Given the description of an element on the screen output the (x, y) to click on. 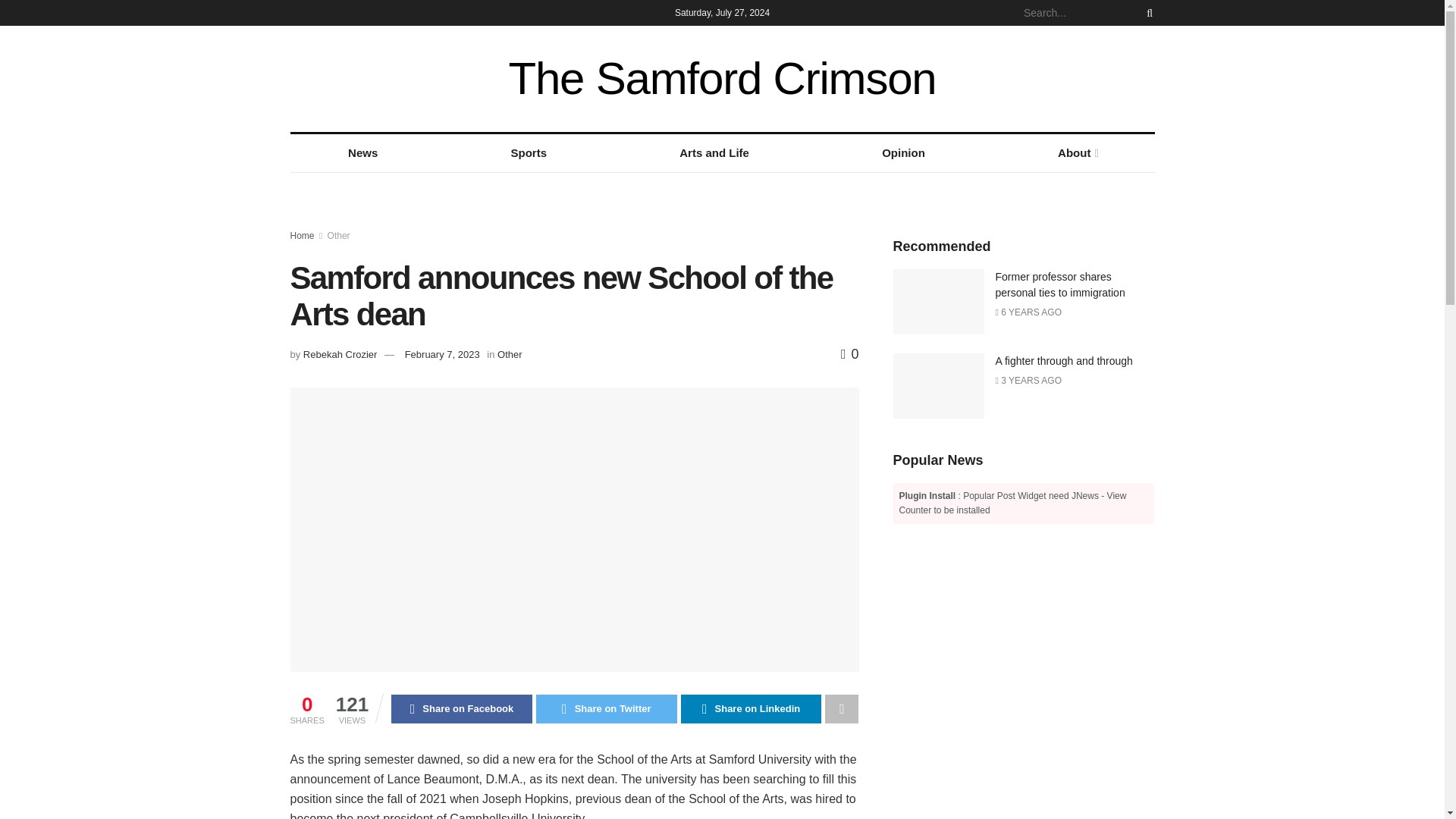
Other (509, 354)
Rebekah Crozier (339, 354)
0 (850, 353)
The Samford Crimson (722, 78)
Sports (528, 152)
weather forecast (1147, 78)
February 7, 2023 (442, 354)
Arts and Life (714, 152)
Share on Twitter (606, 708)
Share on Facebook (461, 708)
News (362, 152)
Other (338, 235)
Home (301, 235)
About (1076, 152)
Share on Linkedin (751, 708)
